Given the description of an element on the screen output the (x, y) to click on. 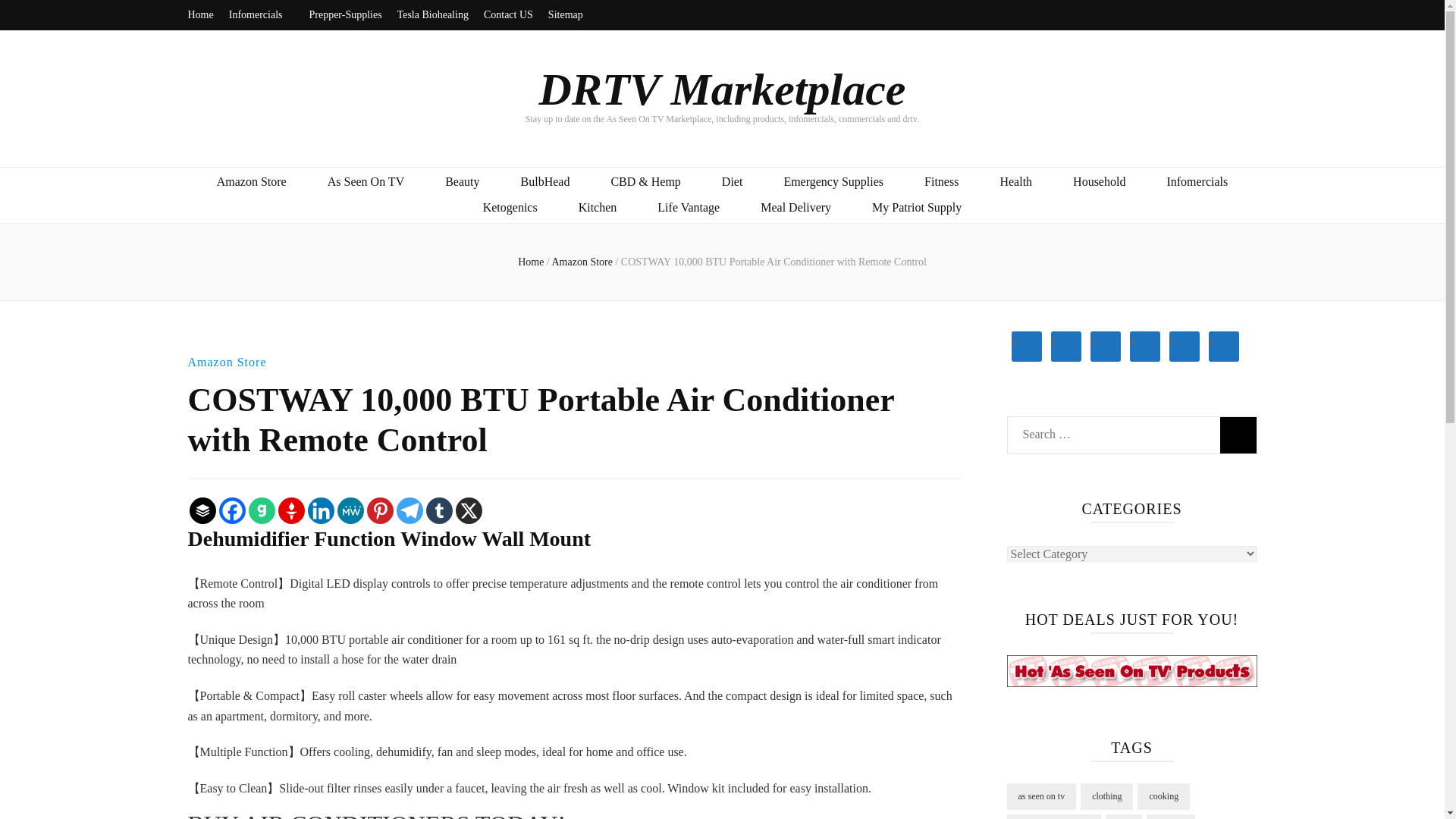
Linkedin (320, 510)
Emergency Supplies (833, 181)
Buffer (202, 510)
Infomercials (261, 15)
Facebook (231, 510)
Gab (261, 510)
Tesla Biohealing (432, 15)
As Seen On TV (365, 181)
Life Vantage (688, 208)
Infomercials (1196, 181)
